Given the description of an element on the screen output the (x, y) to click on. 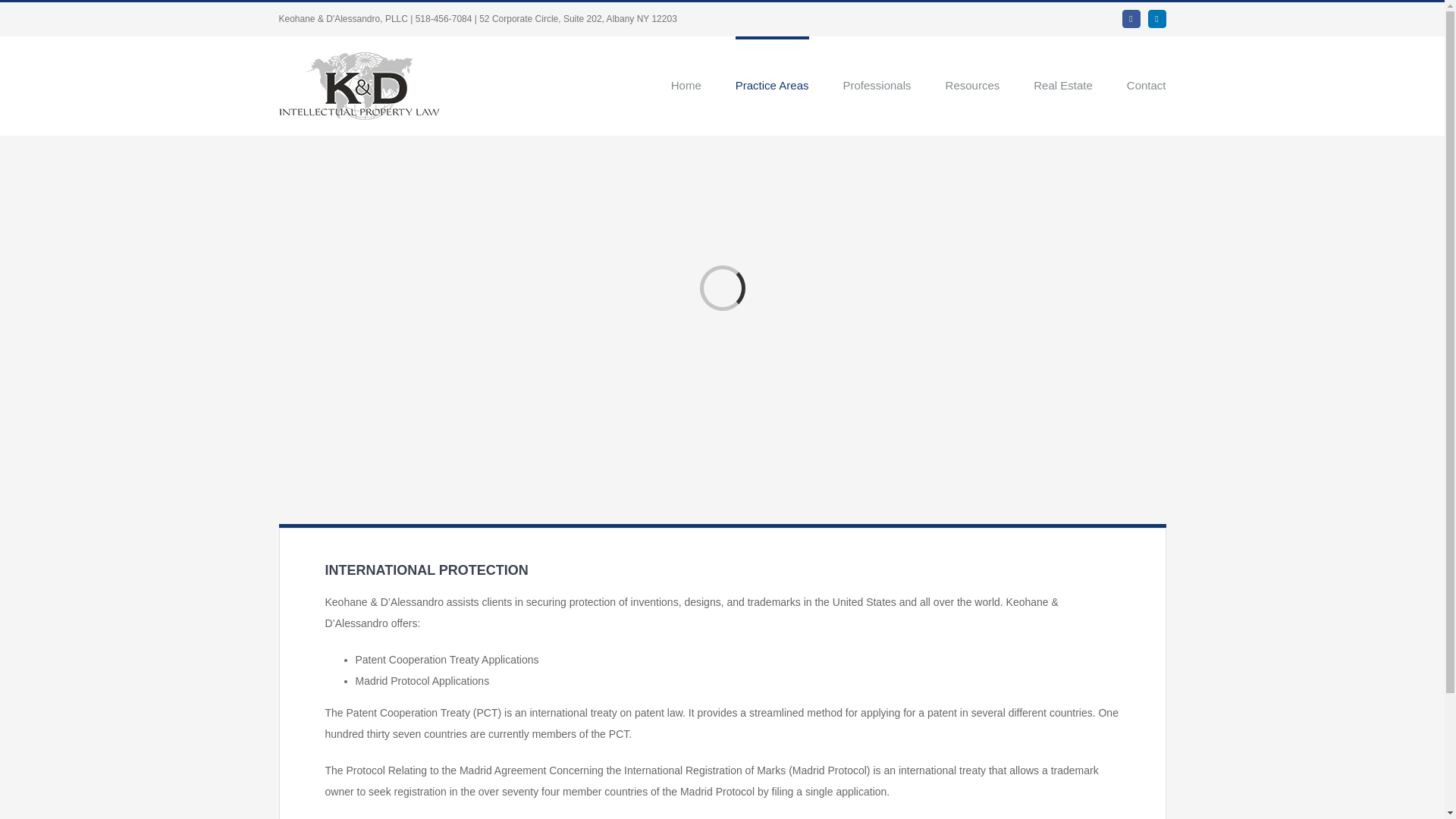
Facebook (1124, 780)
LinkedIn (1154, 780)
LinkedIn (1157, 18)
Facebook (1124, 780)
Facebook (1131, 18)
LinkedIn (1157, 18)
LinkedIn (1154, 780)
Facebook (1131, 18)
